Given the description of an element on the screen output the (x, y) to click on. 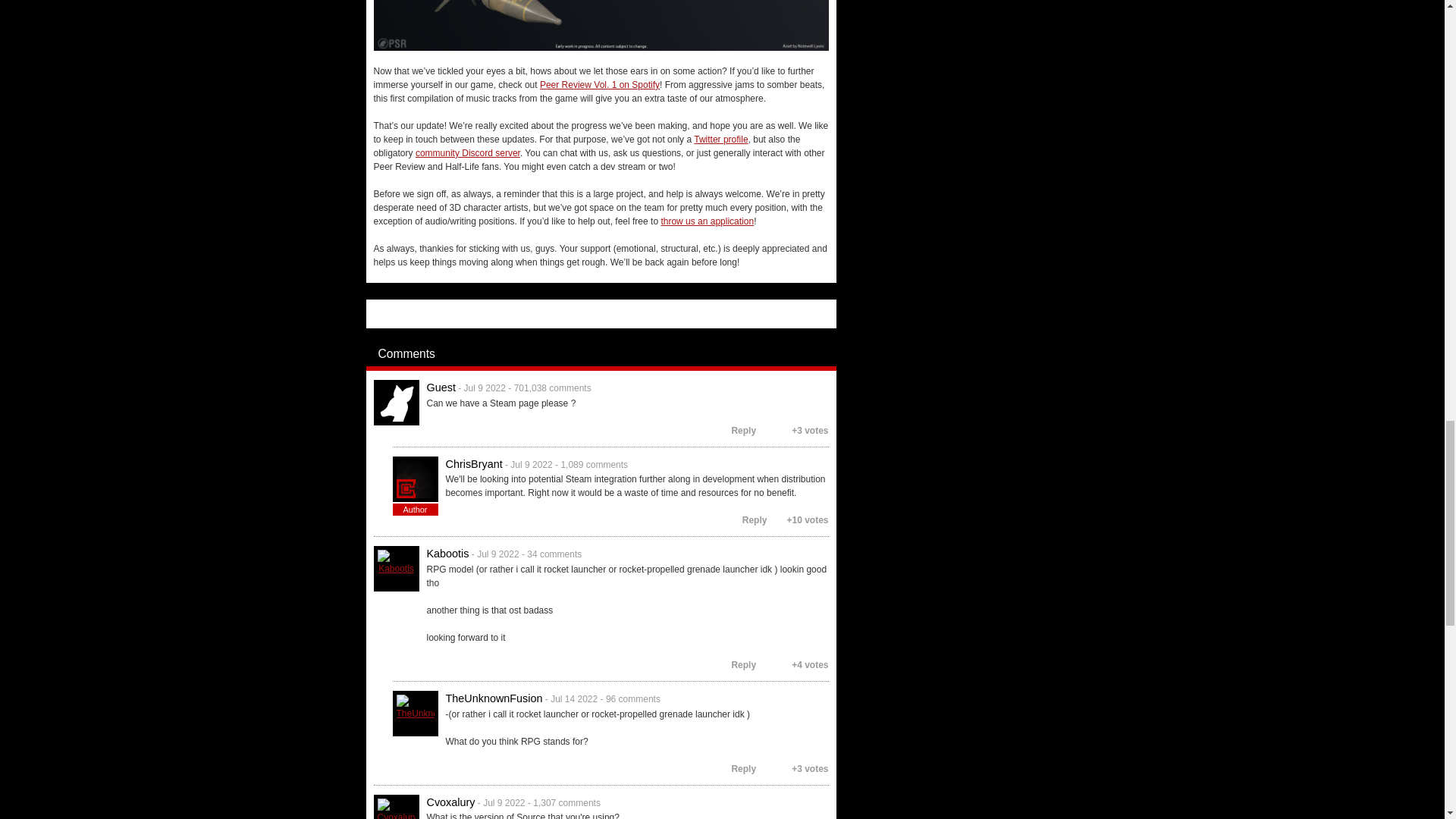
Post comment (828, 353)
